Given the description of an element on the screen output the (x, y) to click on. 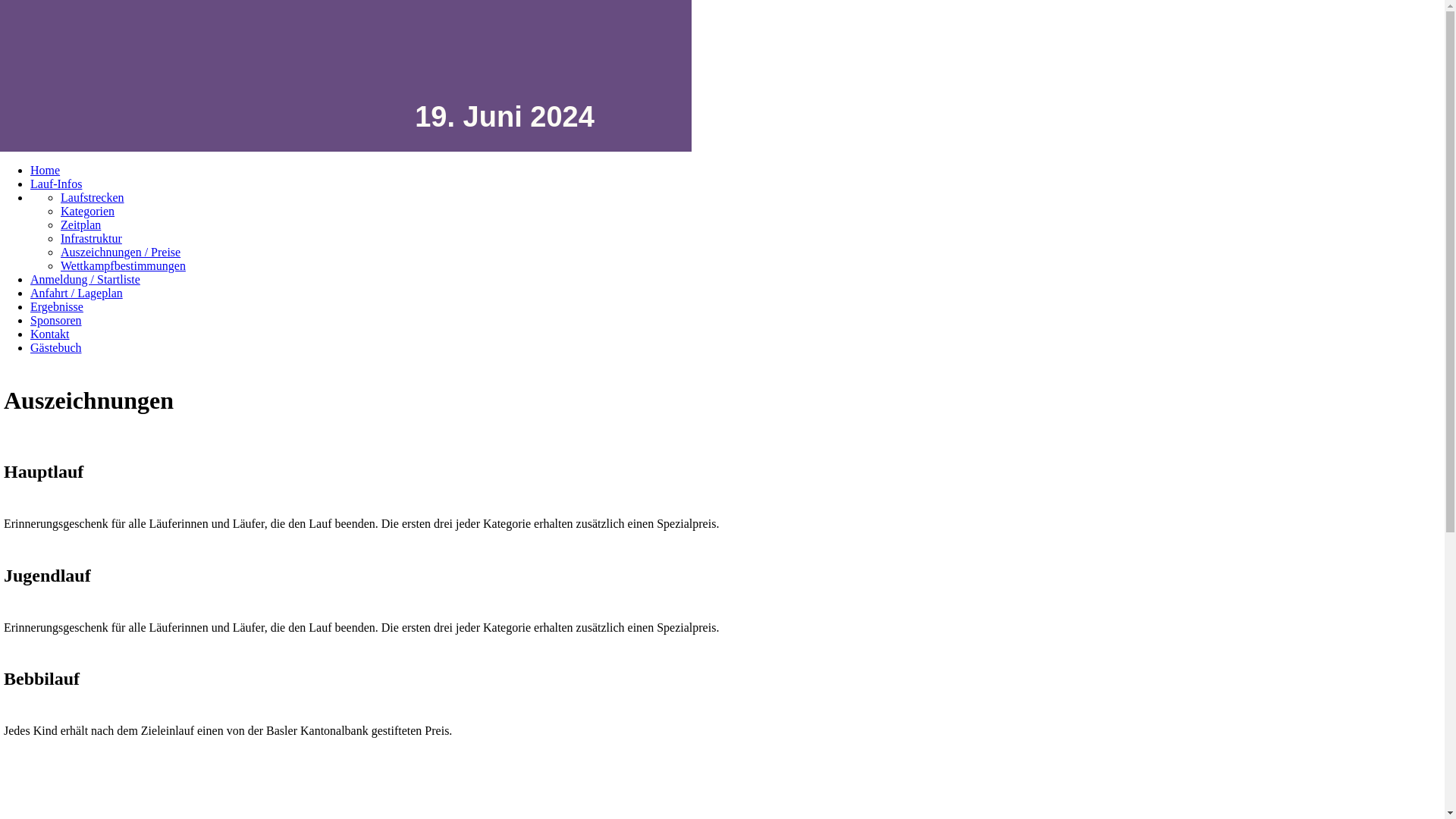
Sponsoren Element type: text (55, 319)
Wettkampfbestimmungen Element type: text (122, 265)
Infrastruktur Element type: text (91, 238)
Anmeldung / Startliste Element type: text (85, 279)
Kontakt Element type: text (49, 333)
Zeitplan Element type: text (80, 224)
Kategorien Element type: text (87, 210)
Ergebnisse Element type: text (56, 306)
Anfahrt / Lageplan Element type: text (76, 292)
Auszeichnungen / Preise Element type: text (120, 251)
Laufstrecken Element type: text (92, 197)
Lauf-Infos Element type: text (55, 183)
Home Element type: text (44, 169)
